Given the description of an element on the screen output the (x, y) to click on. 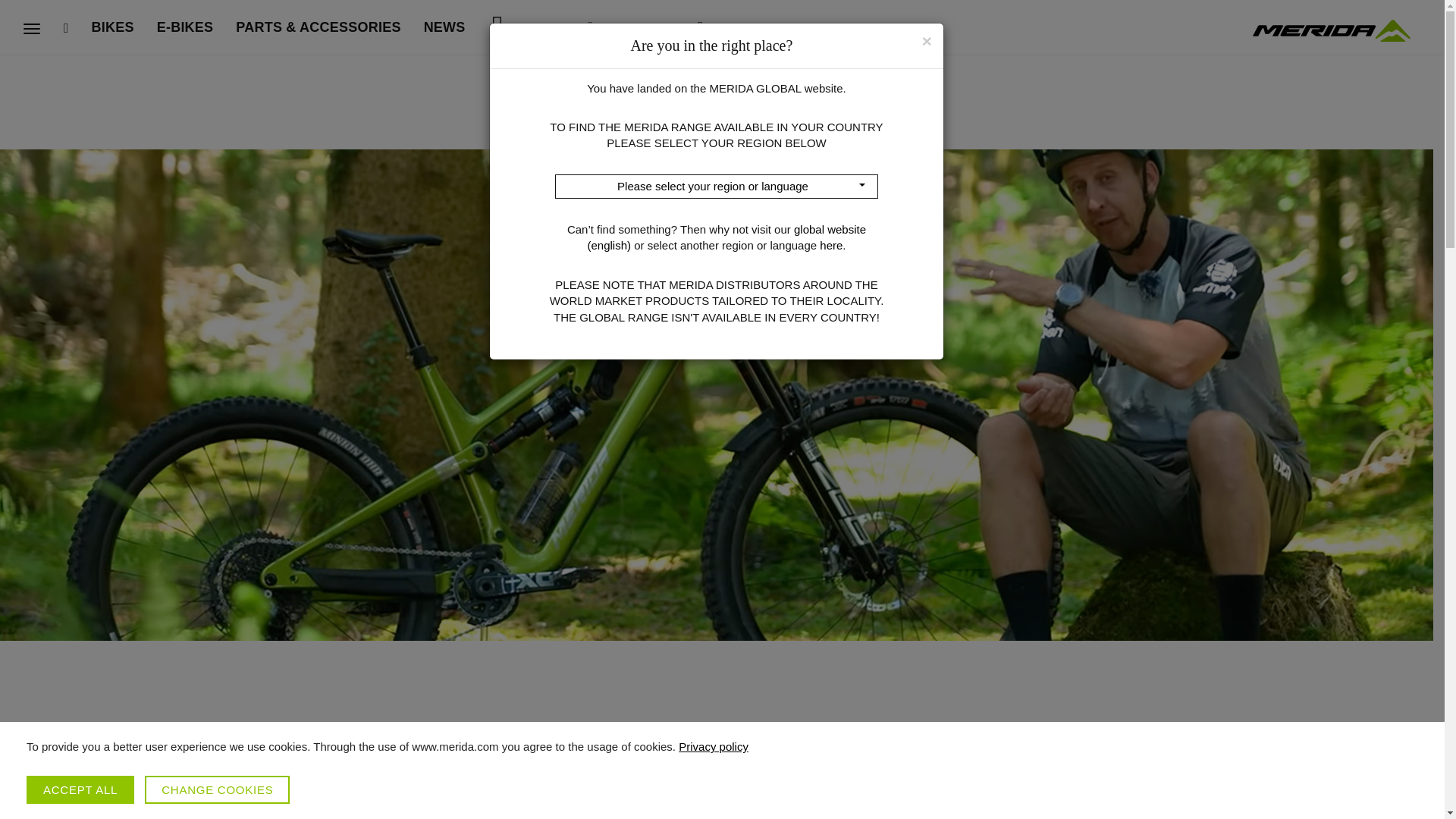
Toggle navigation (31, 28)
